Given the description of an element on the screen output the (x, y) to click on. 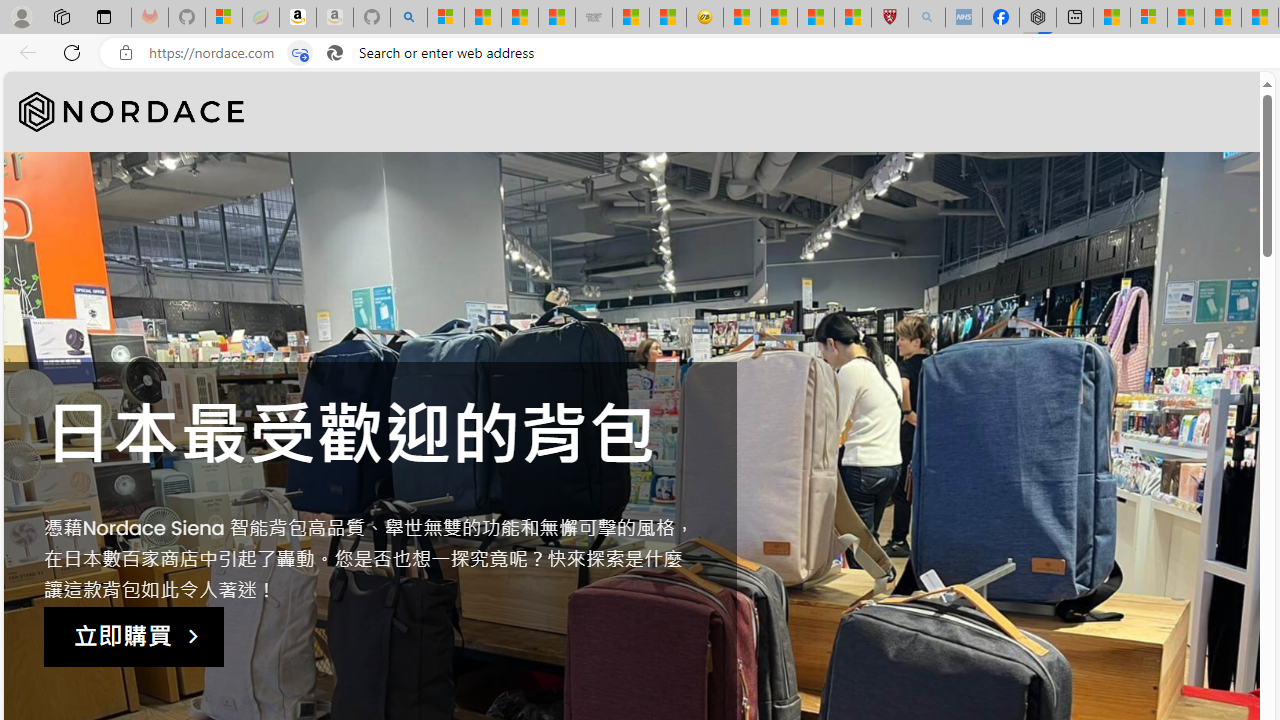
12 Popular Science Lies that Must be Corrected (852, 17)
MSNBC - MSN (519, 17)
Combat Siege (593, 17)
Nordace (131, 111)
Microsoft account | Privacy (1149, 17)
